Given the description of an element on the screen output the (x, y) to click on. 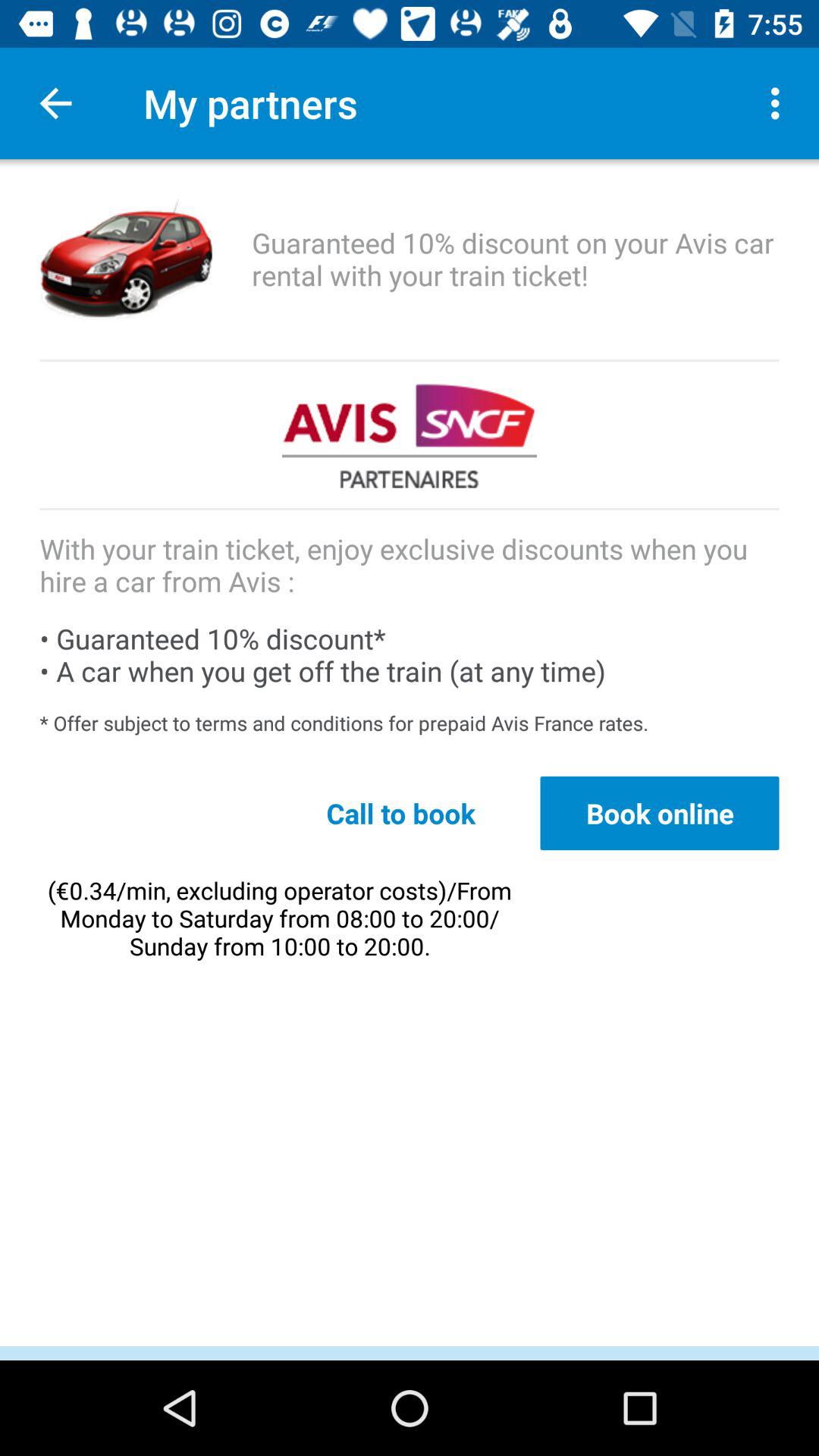
press icon to the right of call to book (659, 813)
